Given the description of an element on the screen output the (x, y) to click on. 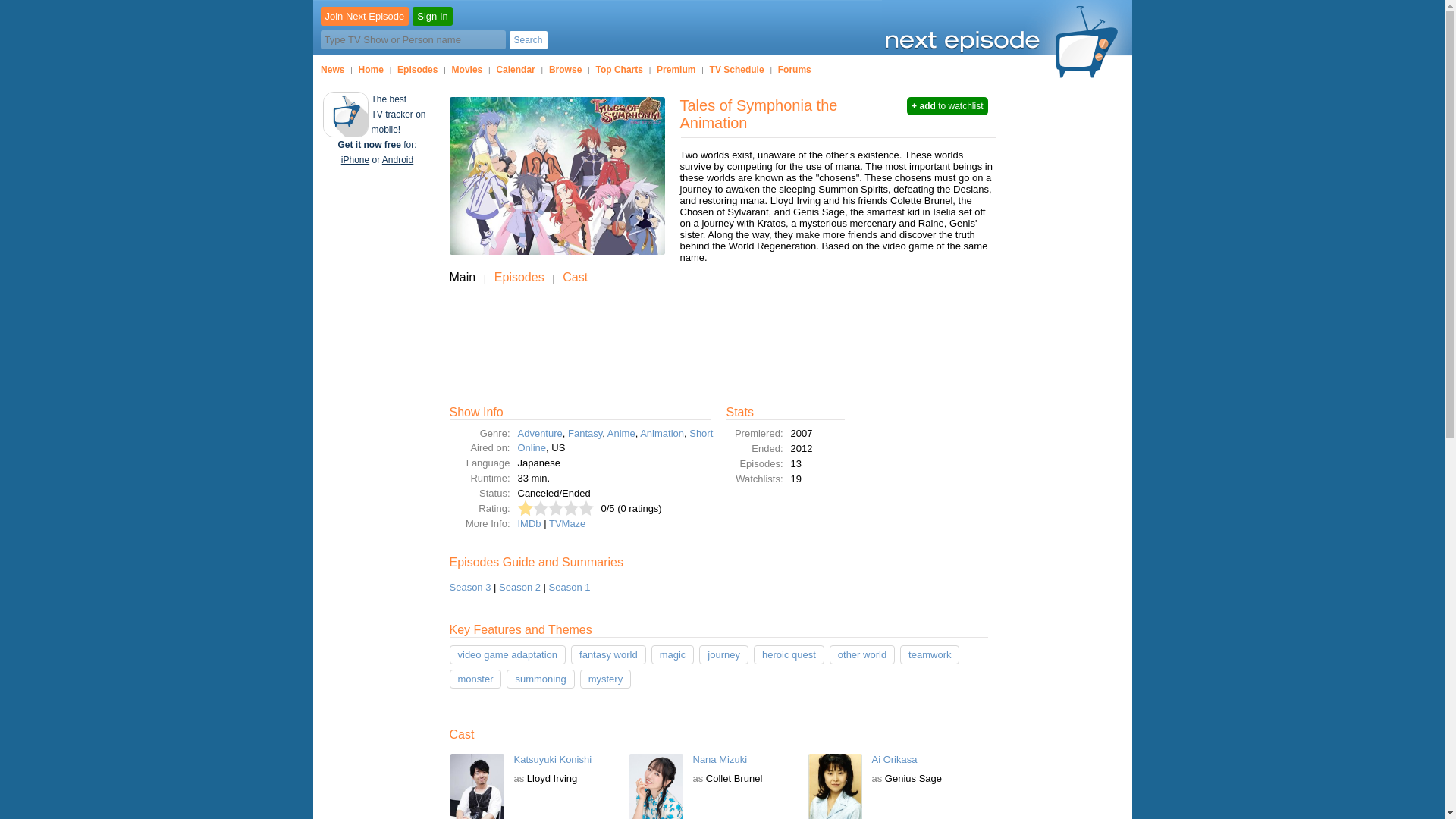
Tales of Symphonia the Animation Cast (575, 277)
Episodes (519, 277)
Previous News (331, 68)
Organize what's watched and what not (417, 68)
Browse (564, 68)
TV Schedule (737, 68)
Browse TV Shows (564, 68)
Android (397, 159)
Adventure (539, 432)
Fantasy (584, 432)
